Given the description of an element on the screen output the (x, y) to click on. 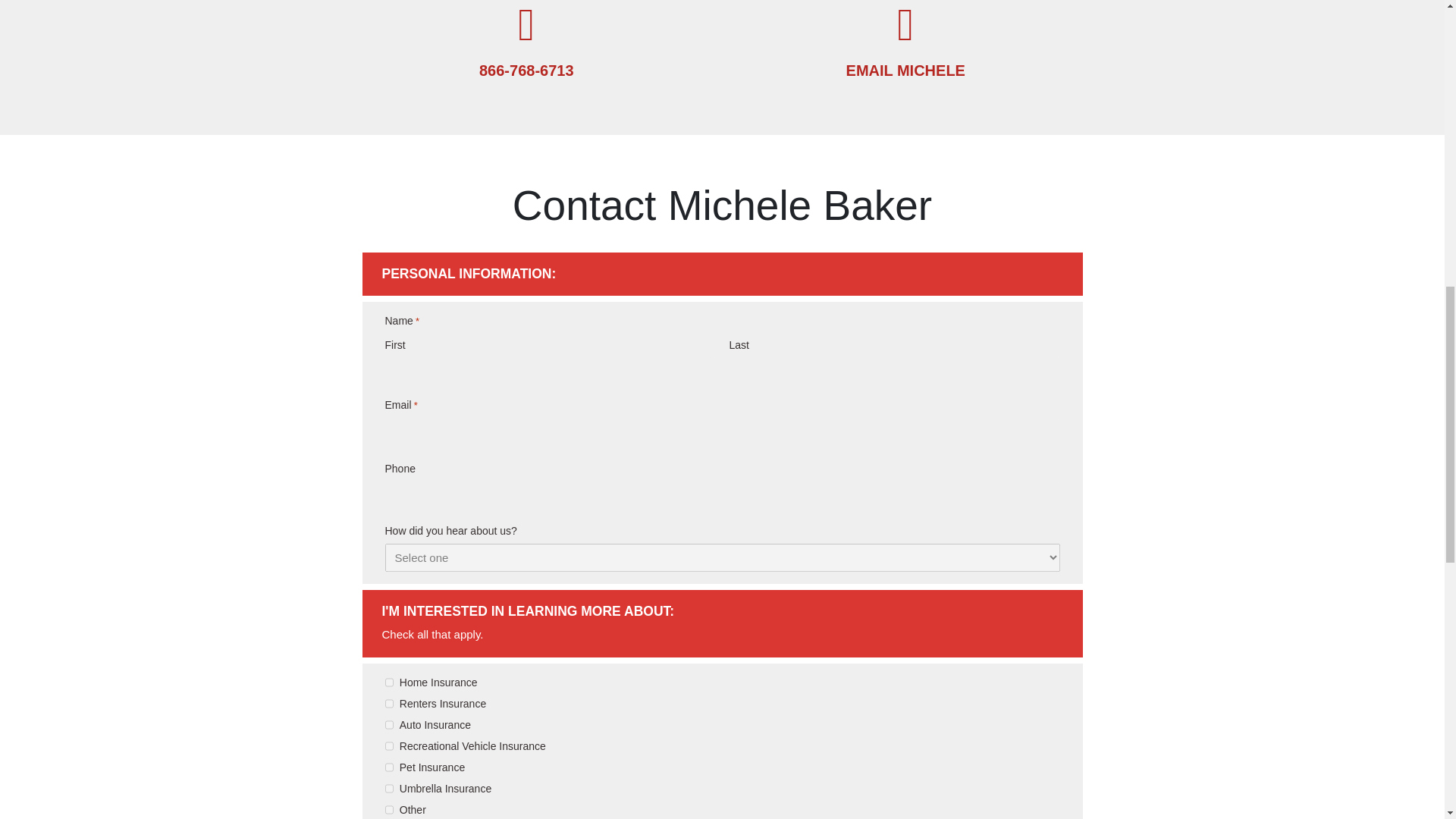
Recreational Vehicle Insurance (389, 746)
Renters Insurance (389, 703)
Pet Insurance (389, 767)
Umbrella Insurance (389, 788)
Auto Insurance (389, 724)
Other (389, 809)
Home Insurance (389, 682)
